Given the description of an element on the screen output the (x, y) to click on. 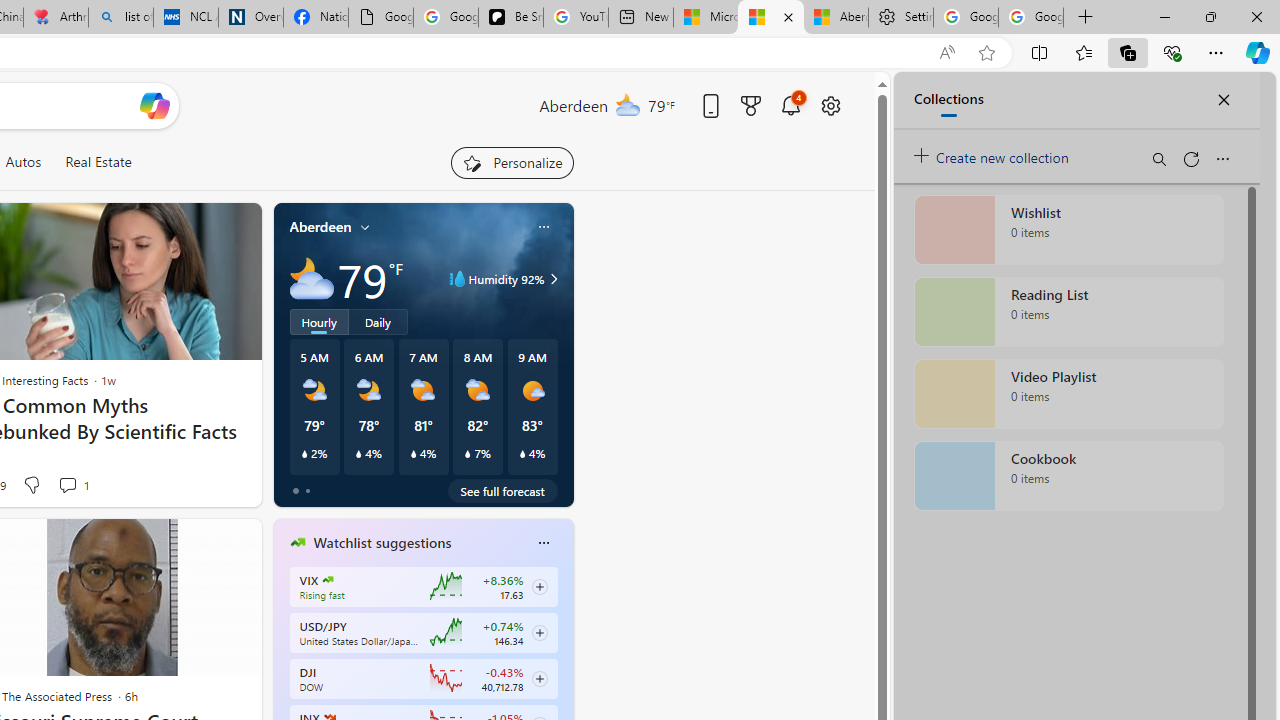
Personalize your feed" (511, 162)
Watchlist suggestions (382, 543)
Class: weather-arrow-glyph (554, 278)
Humidity 92% (551, 278)
Class: follow-button  m (539, 678)
Open settings (830, 105)
previous (283, 670)
